Given the description of an element on the screen output the (x, y) to click on. 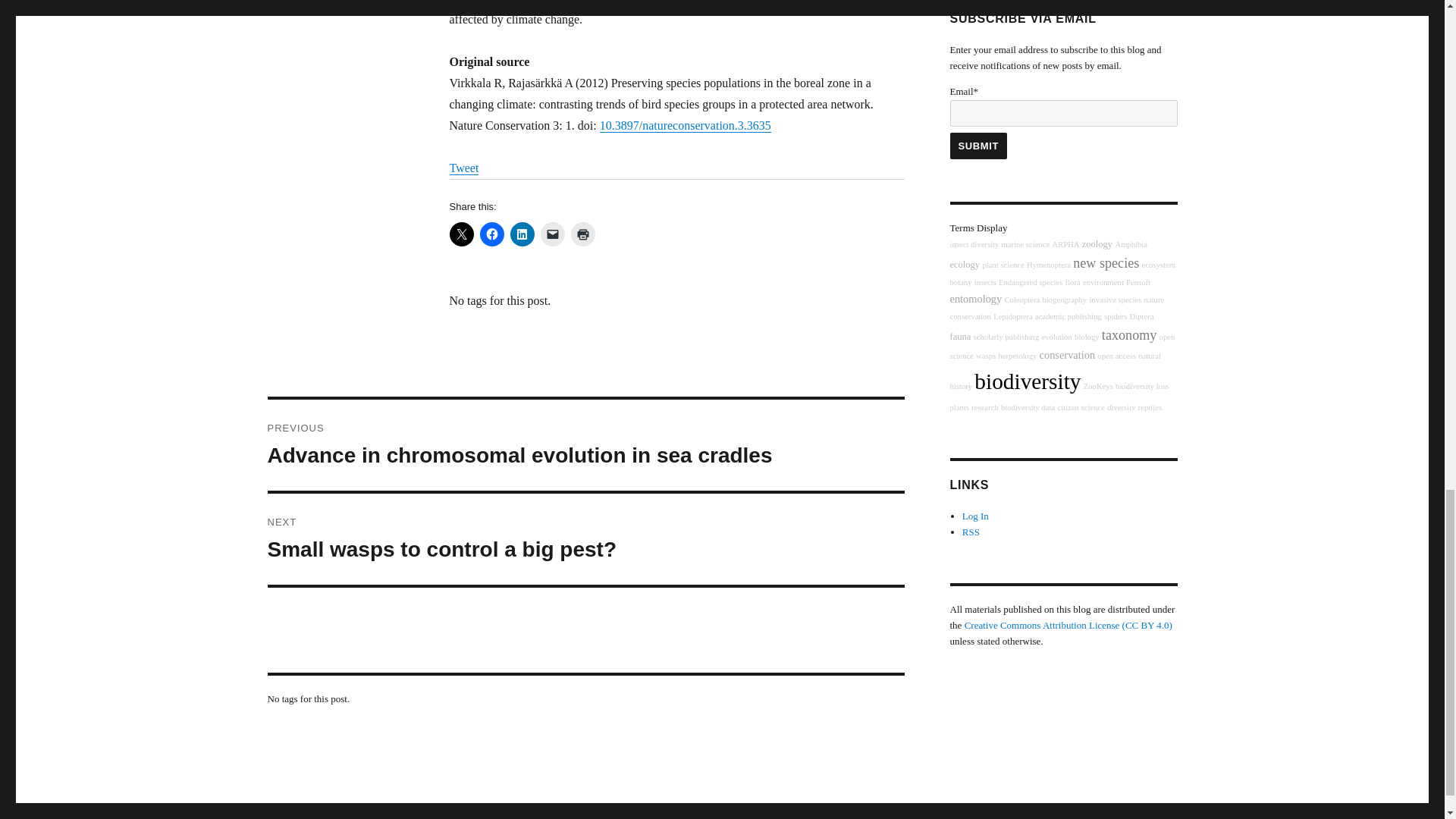
25 topics (1025, 244)
84 topics (1096, 244)
26 topics (1157, 265)
49 topics (960, 282)
34 topics (1064, 244)
Click to share on Facebook (491, 233)
marine science (1025, 244)
65 topics (1048, 265)
27 topics (973, 244)
Amphibia (1131, 244)
